Given the description of an element on the screen output the (x, y) to click on. 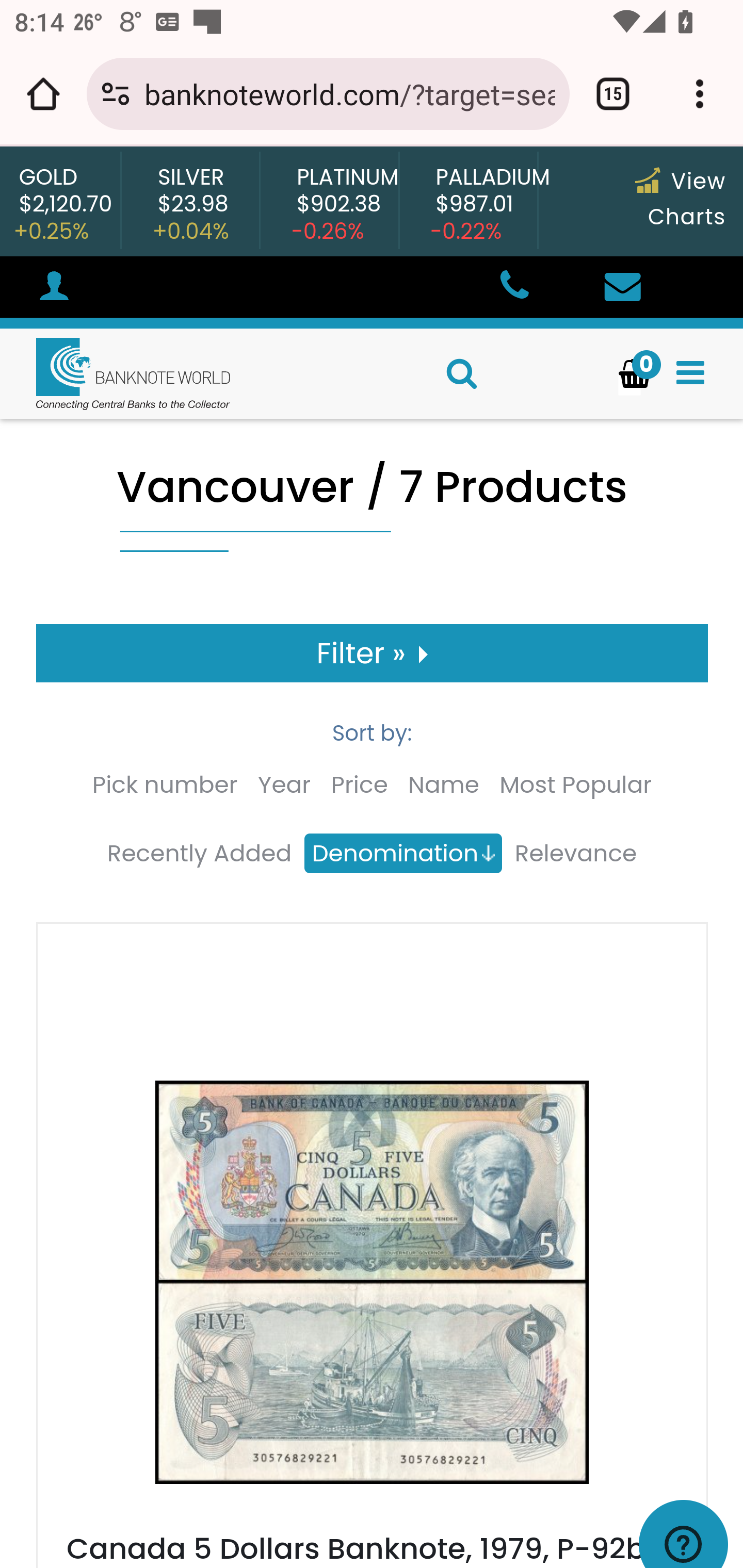
Open the home page (43, 93)
Connection is secure (115, 93)
Switch or close tabs (612, 93)
Customize and control Google Chrome (699, 93)
View Charts (680, 199)
 (513, 287)
 (622, 287)
# (54, 289)
Home (115, 373)
 (690, 373)
Filter »  (372, 652)
Pick number (164, 784)
Year (283, 784)
Price (359, 784)
Name (444, 784)
Most Popular (576, 784)
Recently Added (198, 853)
Denomination (402, 853)
Relevance (574, 853)
Canada 5 Dollars Banknote, 1979, P-92b, Used (371, 1296)
Canada 5 Dollars Banknote, 1979, P-92b, Used (359, 1547)
